Given the description of an element on the screen output the (x, y) to click on. 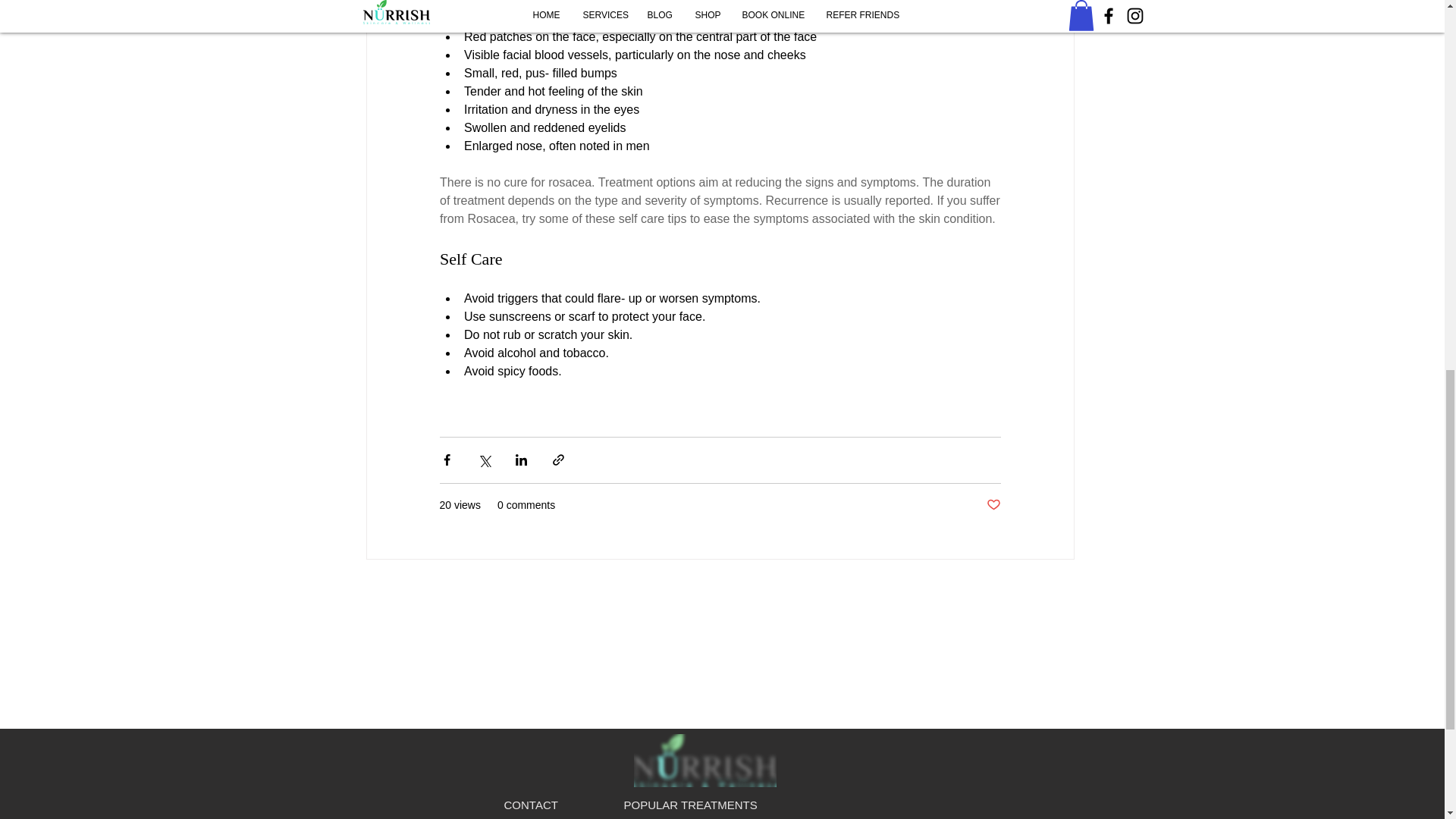
Post not marked as liked (992, 505)
